Given the description of an element on the screen output the (x, y) to click on. 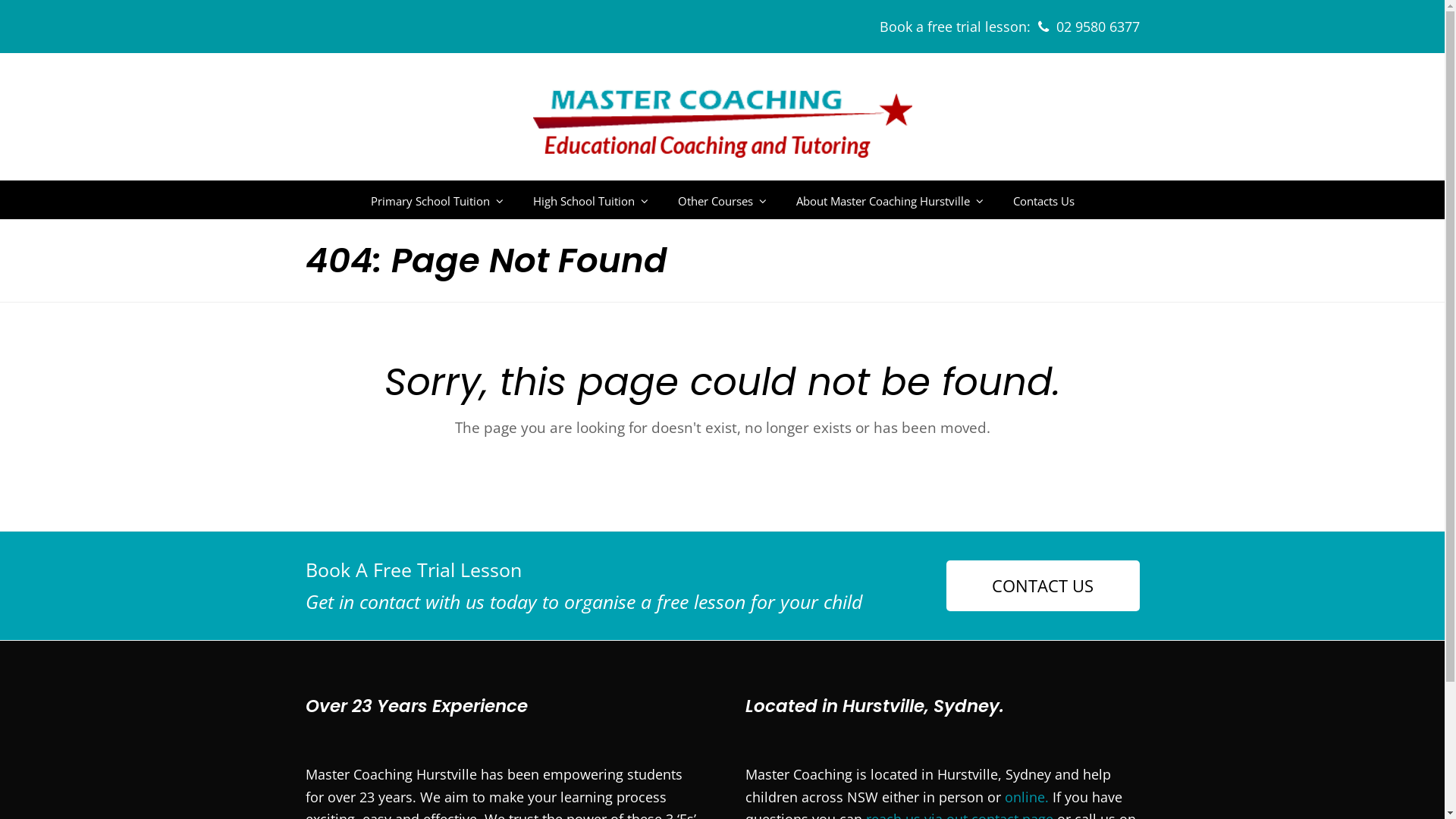
Book a free trial lesson: 02 9580 6377 Element type: text (1009, 25)
High School Tuition Element type: text (590, 200)
About Master Coaching Hurstville Element type: text (888, 200)
Other Courses Element type: text (721, 200)
Primary School Tuition Element type: text (436, 200)
Contacts Us Element type: text (1042, 200)
CONTACT US Element type: text (1042, 585)
online. Element type: text (1026, 796)
